Given the description of an element on the screen output the (x, y) to click on. 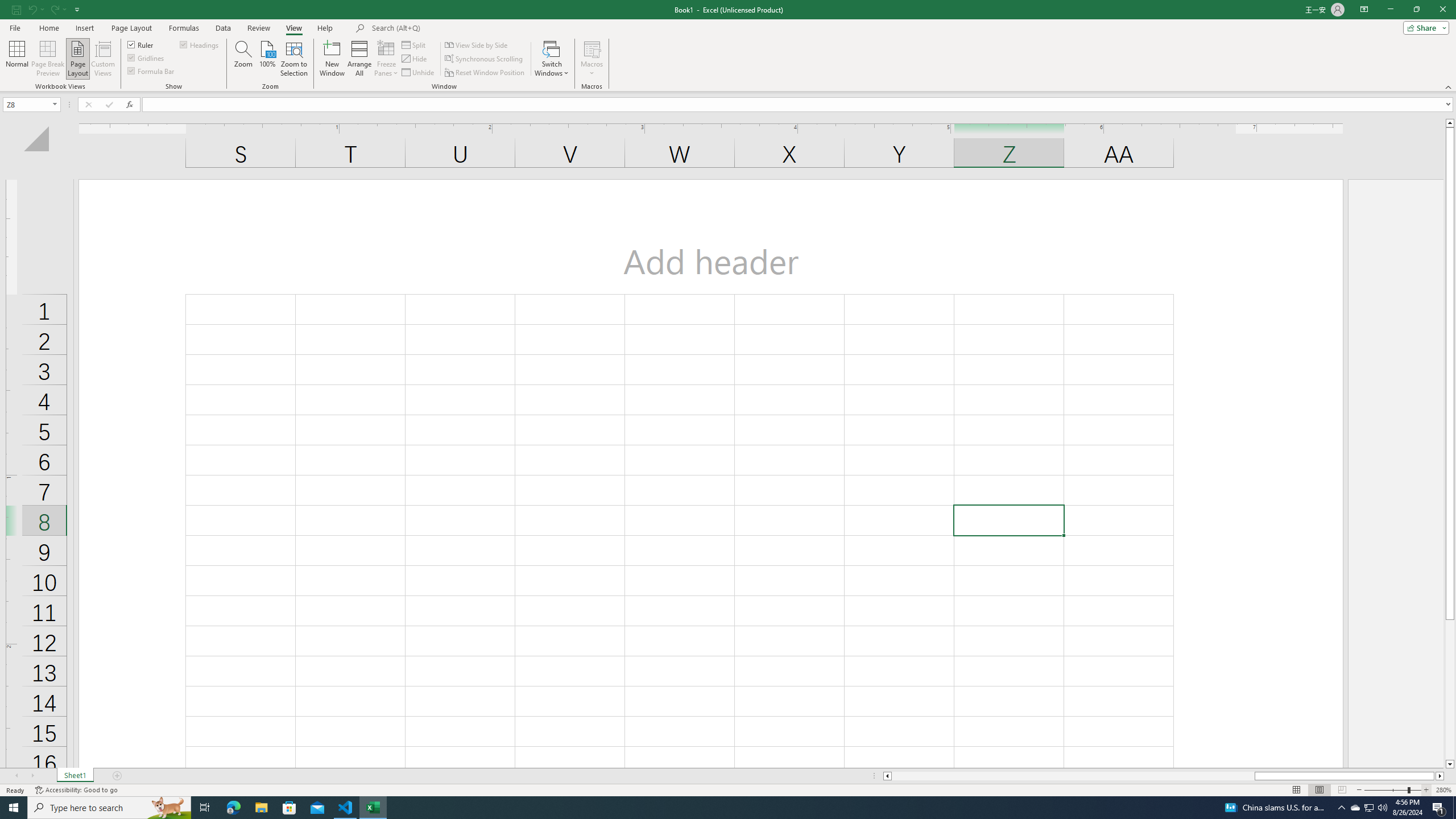
Page left (1073, 775)
Switch Windows (551, 58)
View Macros (591, 48)
Gridlines (146, 56)
Zoom to Selection (293, 58)
